Given the description of an element on the screen output the (x, y) to click on. 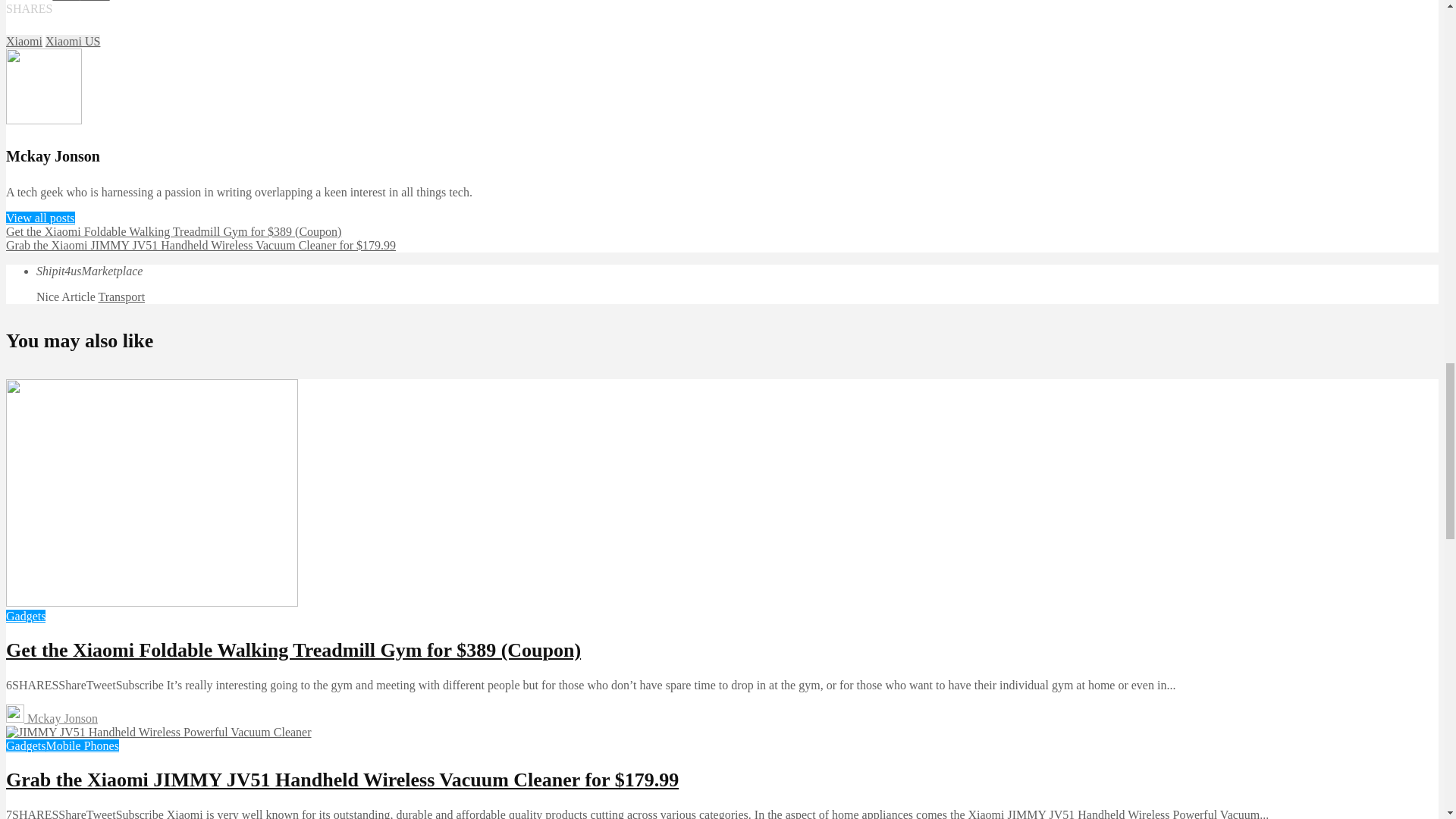
Xiaomi (23, 41)
Mckay Jonson (51, 717)
Gadgets (25, 615)
View all posts (40, 217)
Transport (120, 296)
Mobile Phones (81, 745)
Gadgets (25, 745)
Xiaomi US (72, 41)
Tweet (95, 0)
Share (66, 0)
